Given the description of an element on the screen output the (x, y) to click on. 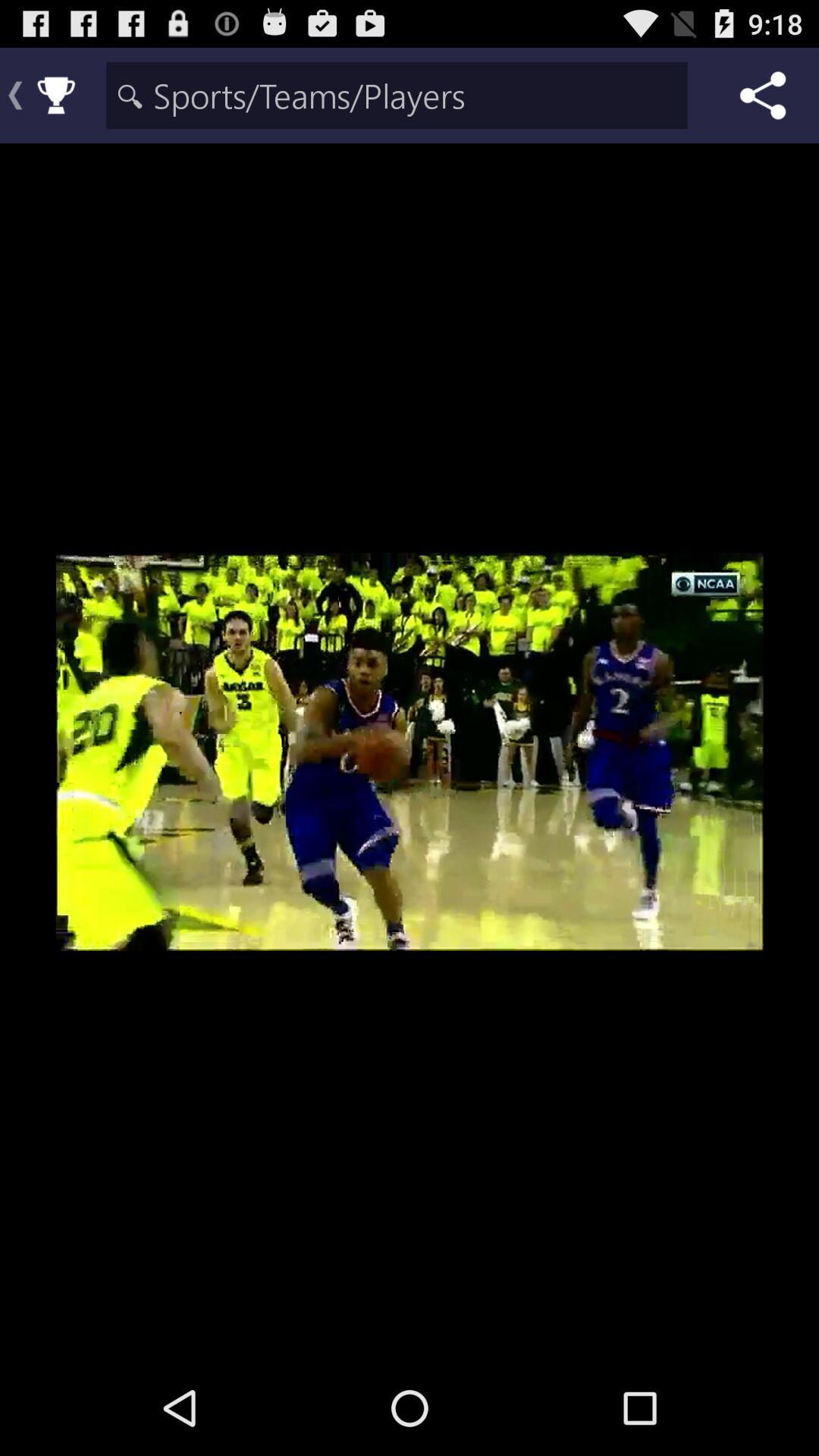
searching area (396, 95)
